Given the description of an element on the screen output the (x, y) to click on. 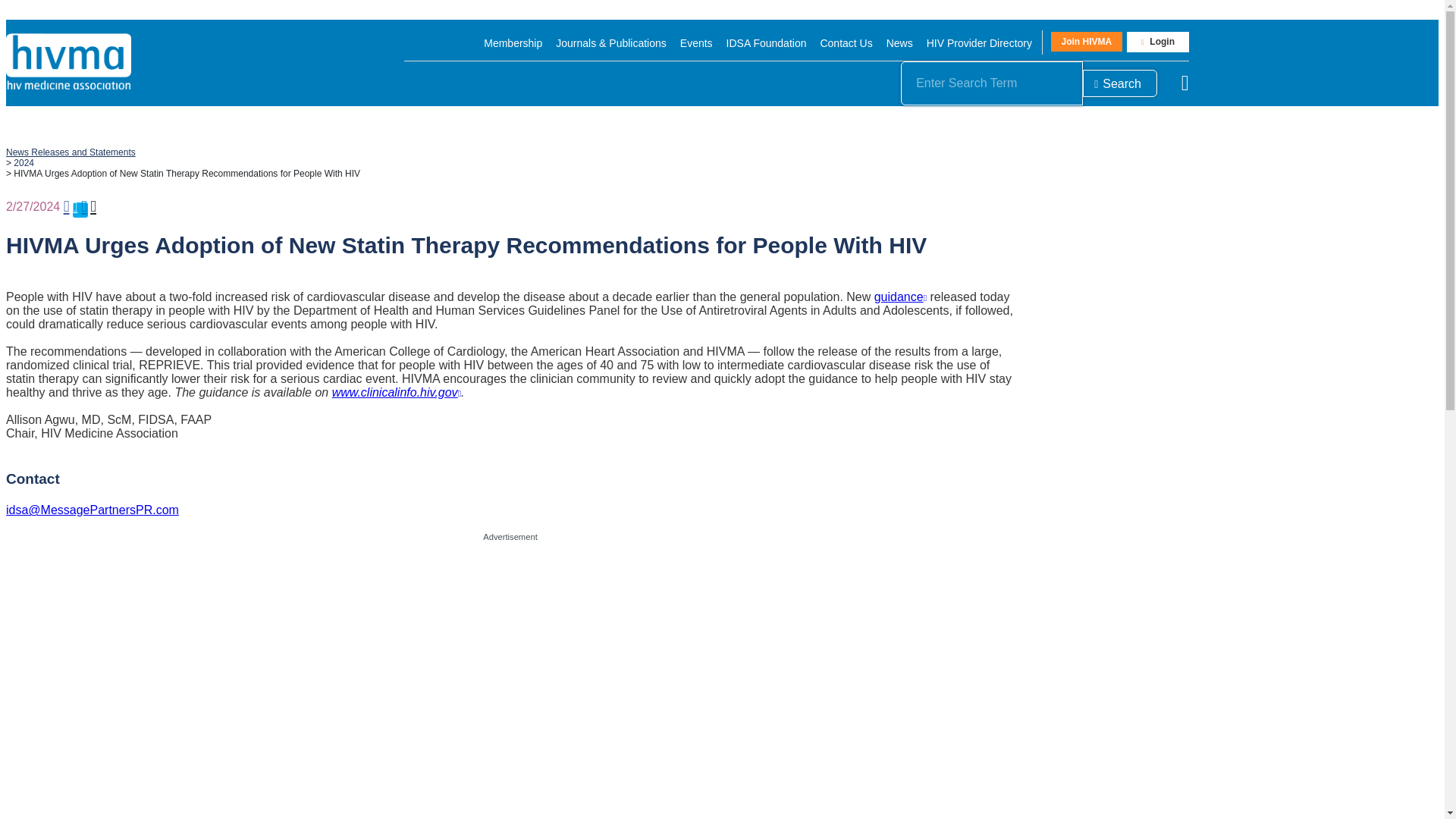
Membership (513, 42)
Events (696, 42)
Guidelines (448, 97)
IDSA Foundation (766, 42)
Login (1157, 41)
Contact Us (845, 42)
HIV Provider Directory (978, 42)
News (899, 42)
Clinical Practice (550, 97)
Join HIVMA (1120, 83)
